Given the description of an element on the screen output the (x, y) to click on. 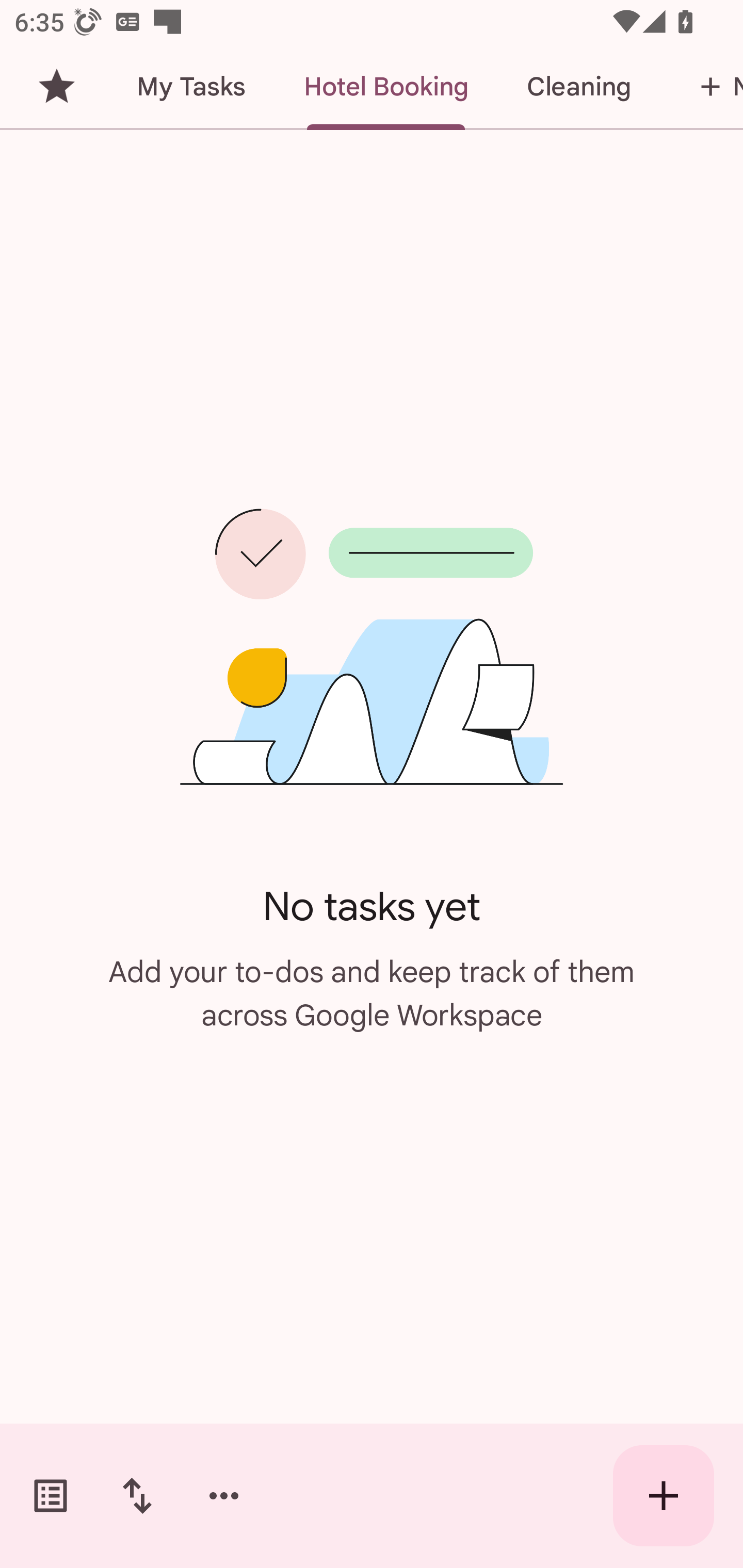
Starred (55, 86)
My Tasks (190, 86)
Cleaning (578, 86)
Switch task lists (50, 1495)
Create new task (663, 1495)
Change sort order (136, 1495)
More options (223, 1495)
